Given the description of an element on the screen output the (x, y) to click on. 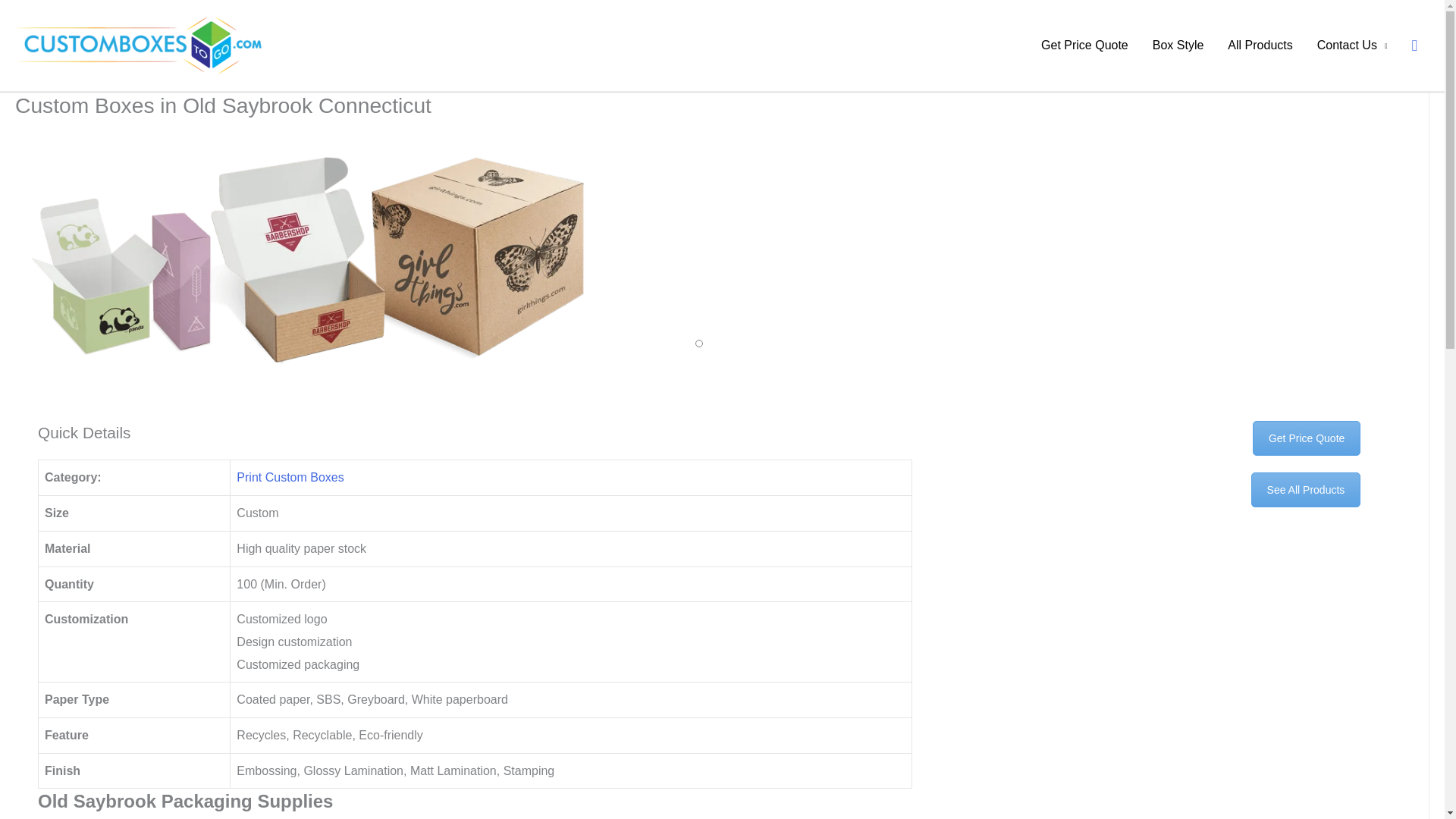
Box Style (1177, 45)
Contact Us (1351, 45)
Print Custom Boxes (289, 477)
All Products (1259, 45)
See All Products (1297, 490)
Get Price Quote (1084, 45)
custom-boxes-usa (310, 259)
Get Price Quote (1250, 469)
